Given the description of an element on the screen output the (x, y) to click on. 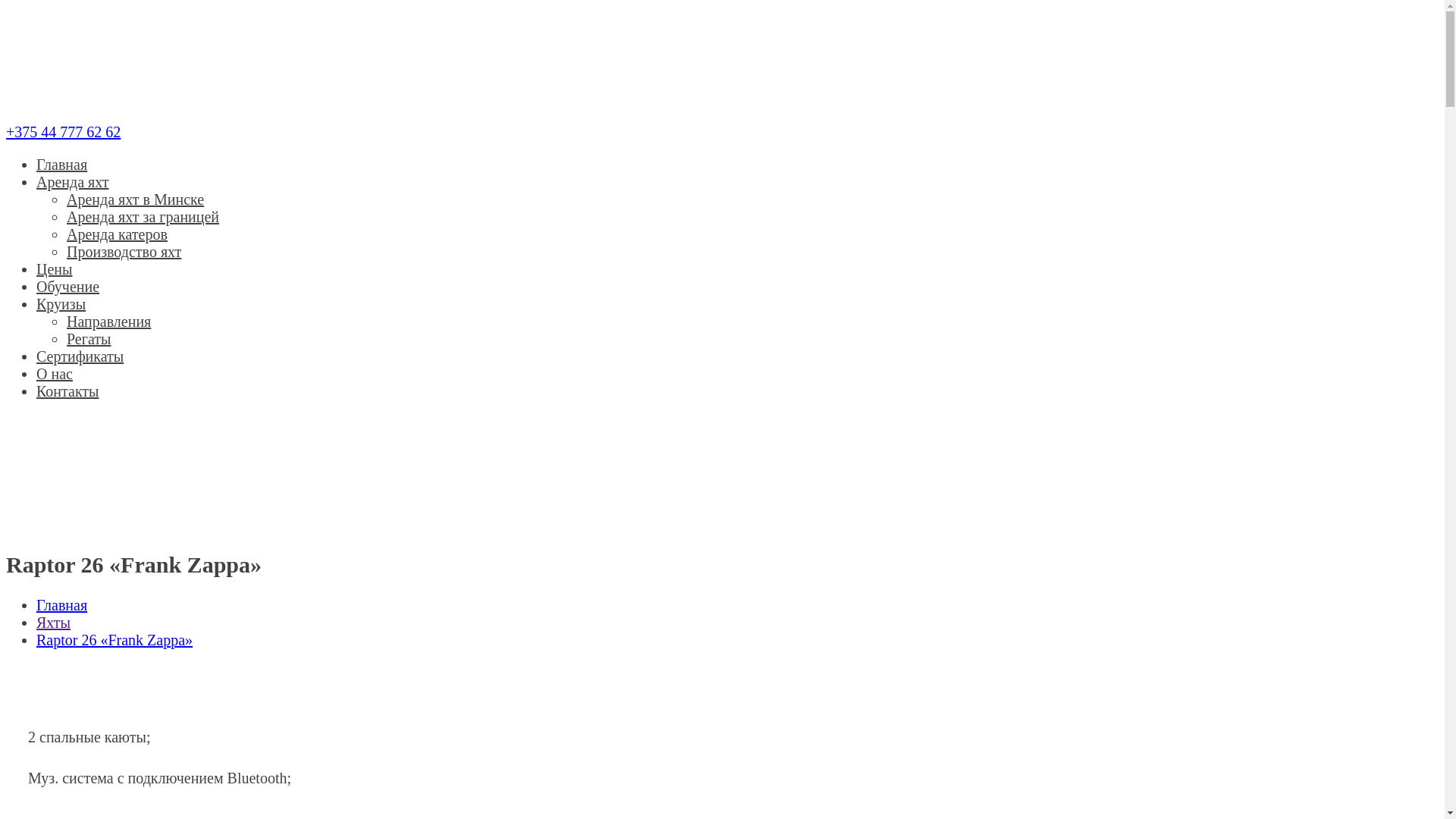
+375 44 777 62 62 Element type: text (63, 131)
